Given the description of an element on the screen output the (x, y) to click on. 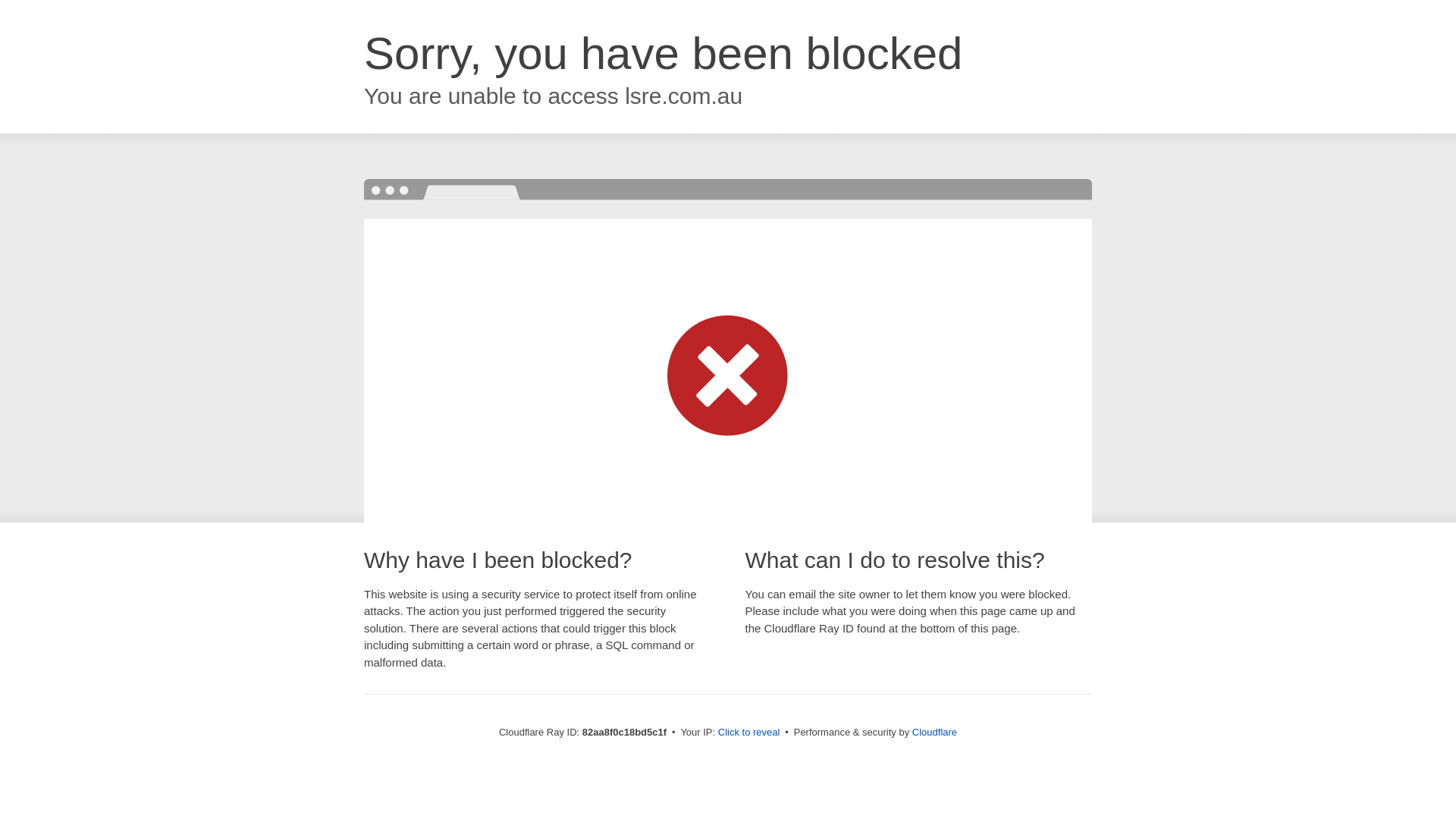
Click to reveal Element type: text (749, 732)
Cloudflare Element type: text (934, 731)
